Given the description of an element on the screen output the (x, y) to click on. 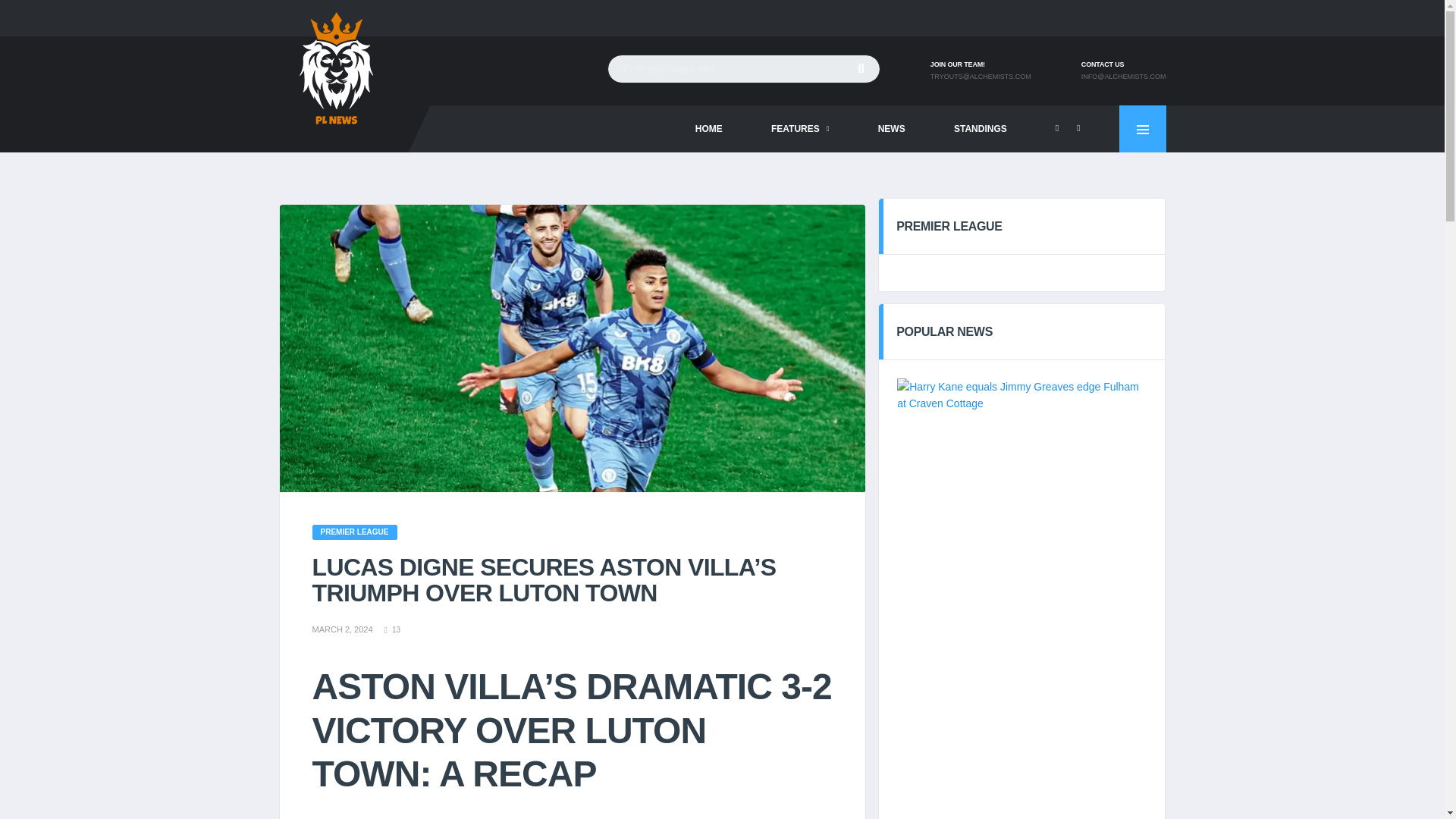
STANDINGS (980, 128)
NEWS (891, 128)
Like (392, 629)
HOME (708, 128)
FEATURES (799, 128)
